Given the description of an element on the screen output the (x, y) to click on. 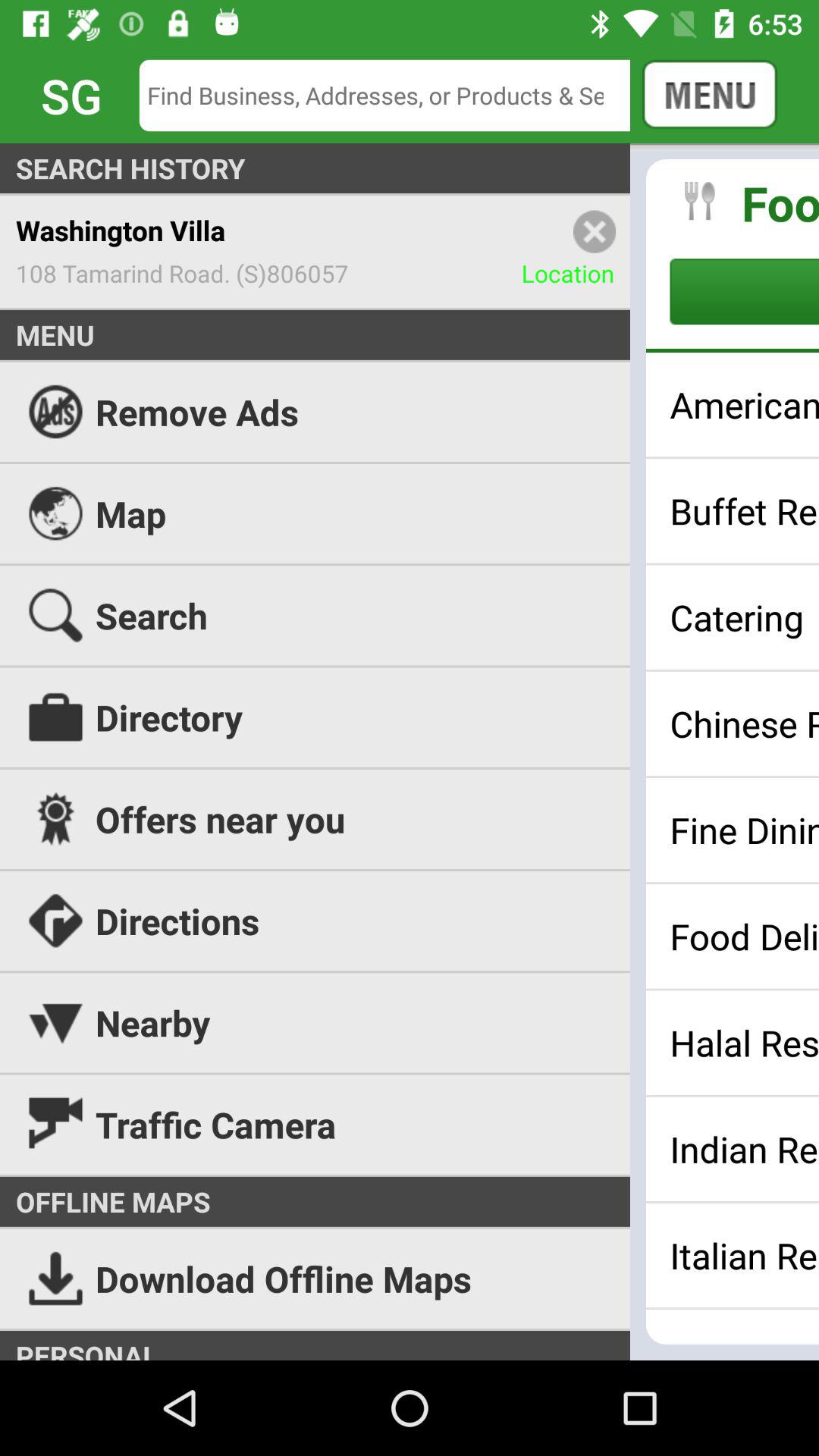
turn on the icon below the offers near you icon (409, 920)
